Given the description of an element on the screen output the (x, y) to click on. 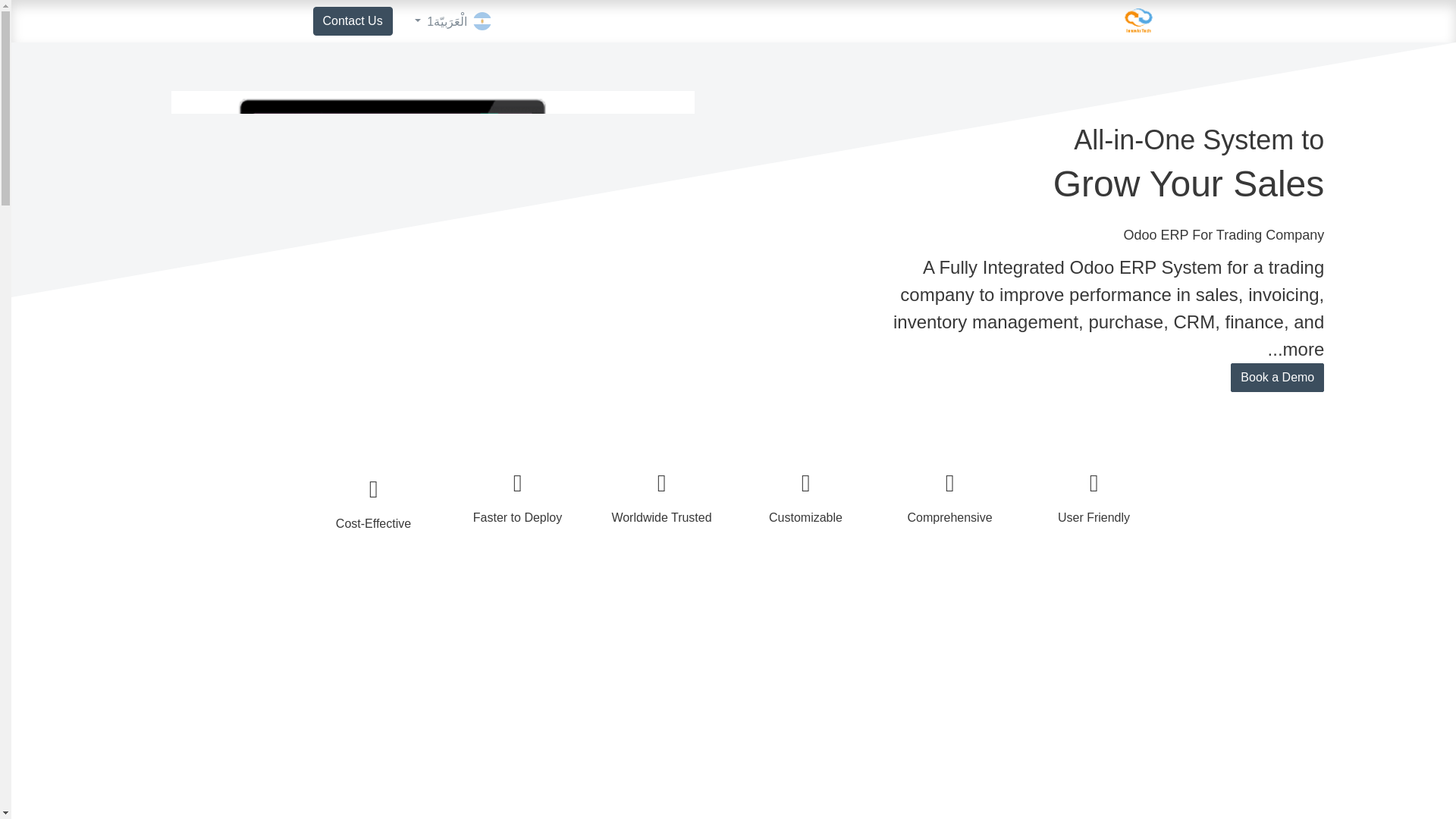
Contact Us (352, 21)
Book a Demo (1276, 377)
Innovia (1138, 20)
